Given the description of an element on the screen output the (x, y) to click on. 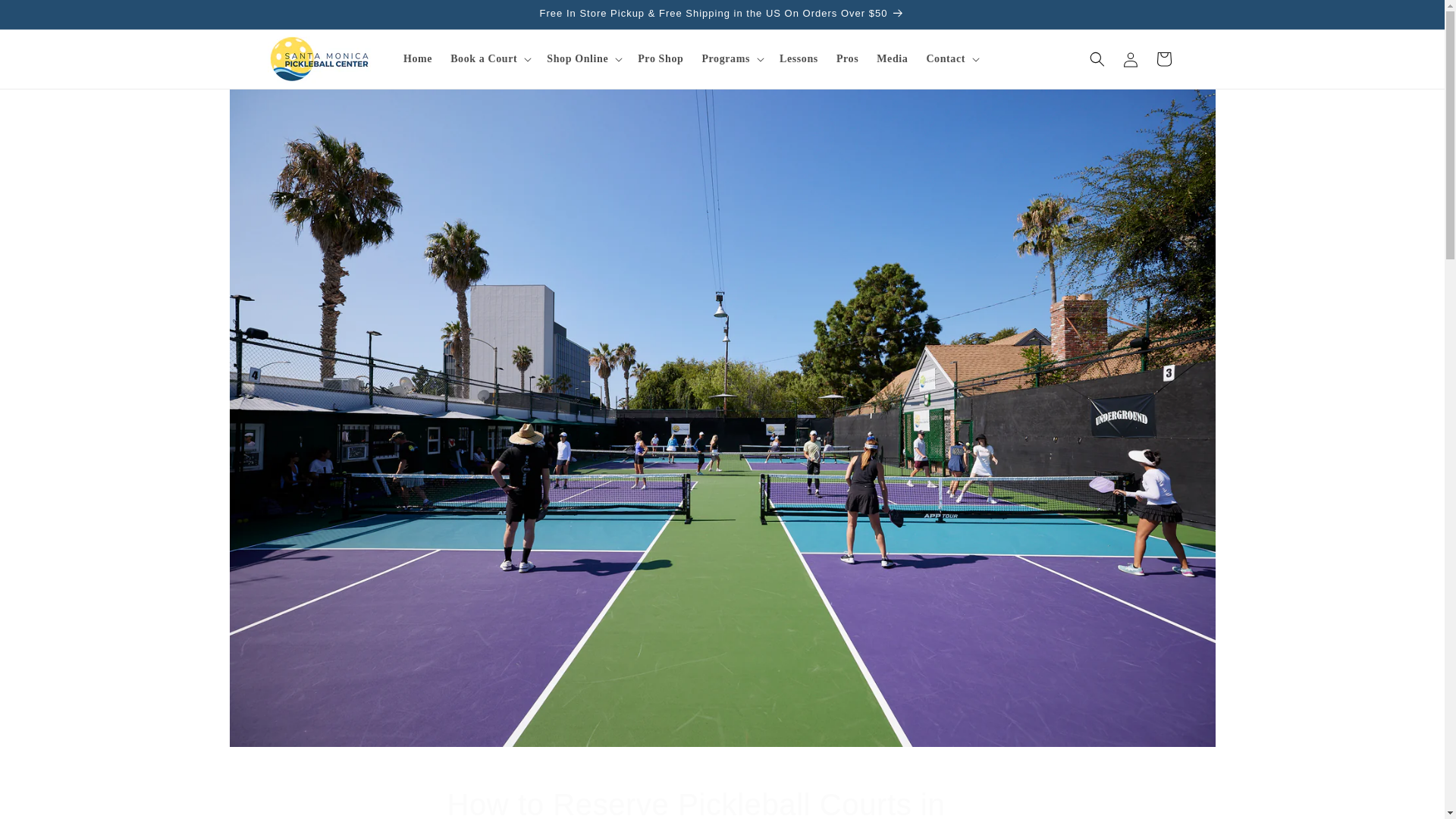
Skip to content (45, 17)
